Given the description of an element on the screen output the (x, y) to click on. 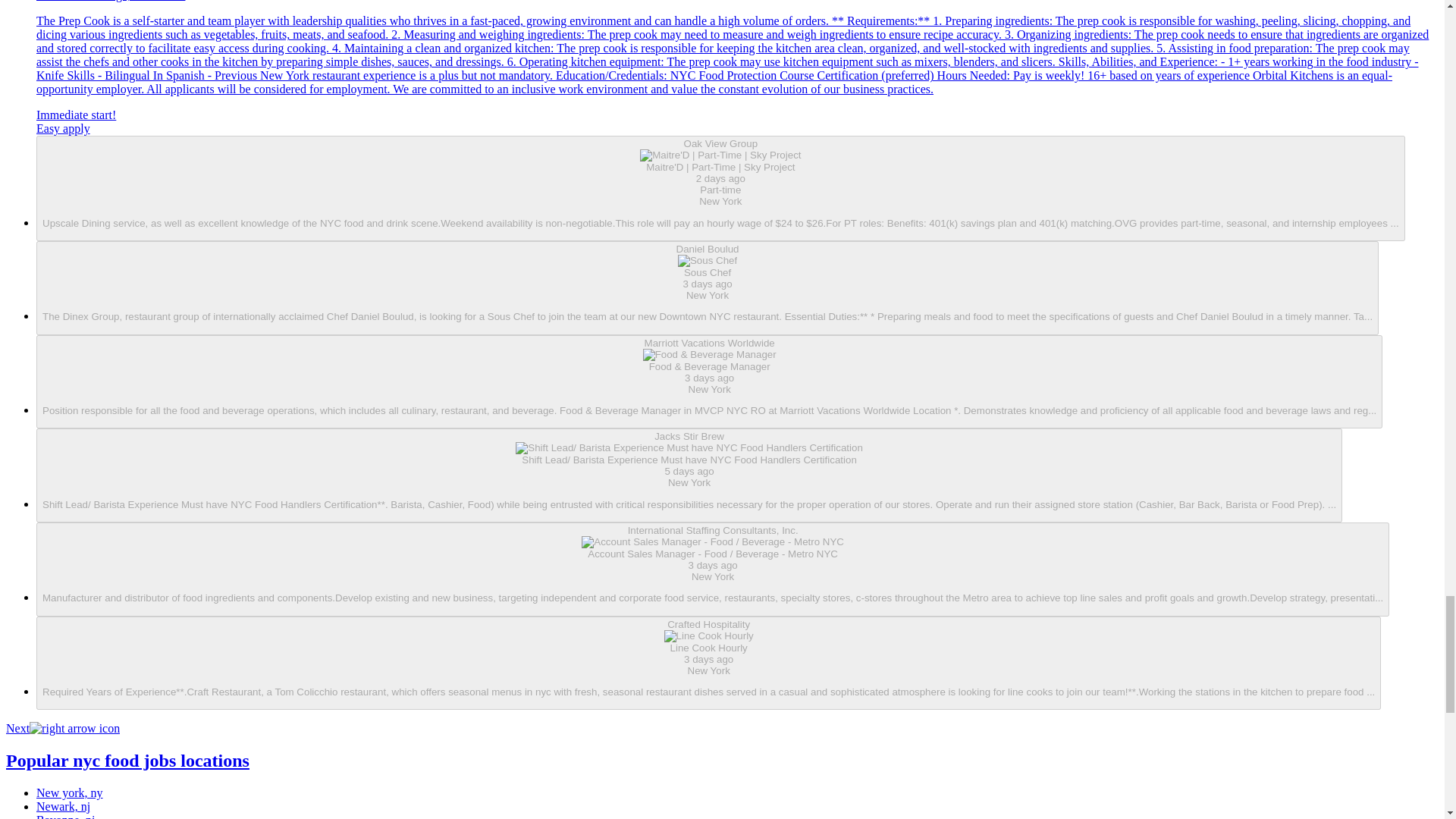
Next (62, 727)
Bayonne, nj (65, 816)
New york, ny (69, 792)
Popular nyc food jobs locations (126, 760)
Newark, nj (63, 806)
